Given the description of an element on the screen output the (x, y) to click on. 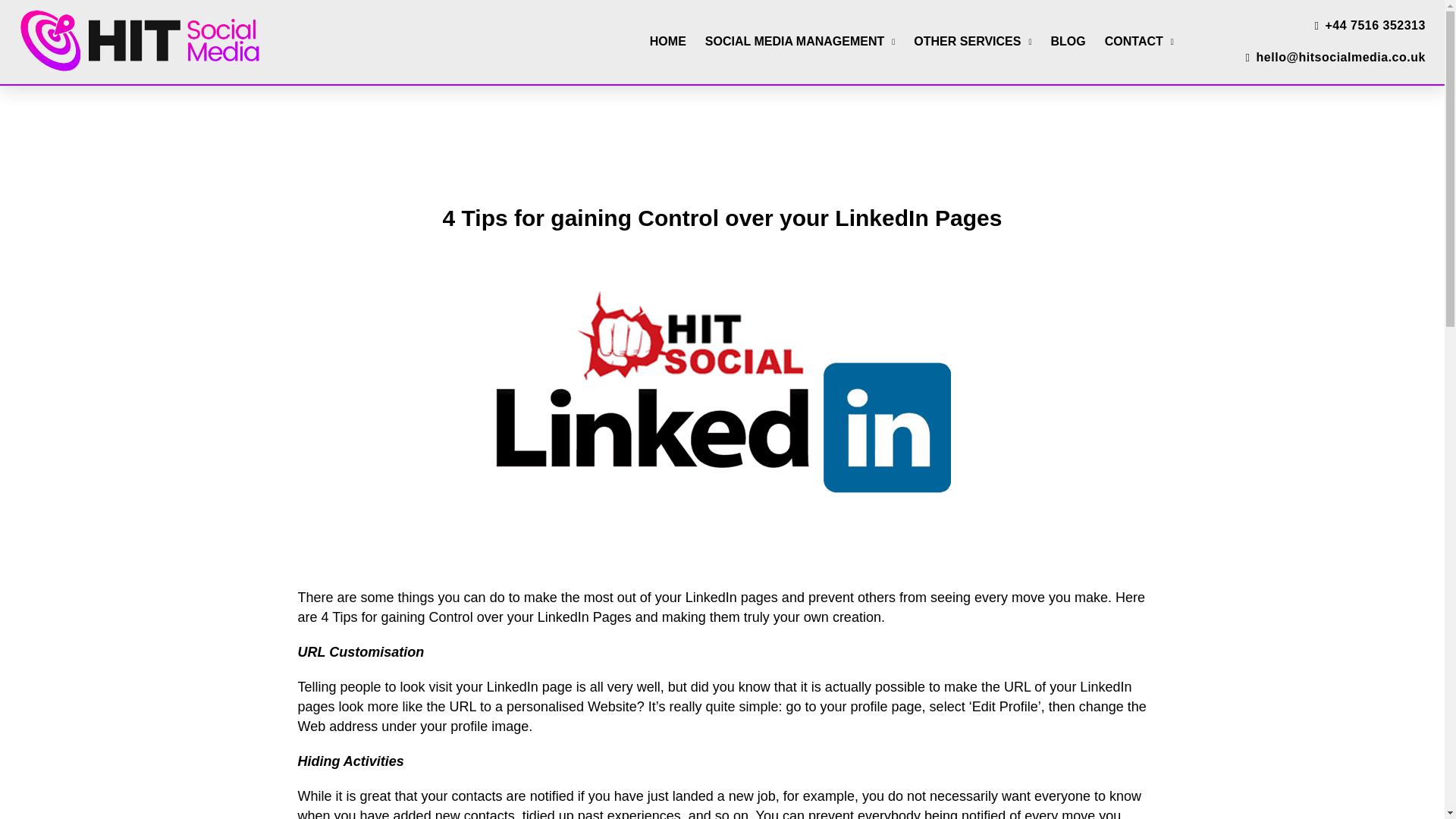
BLOG (1068, 41)
SOCIAL MEDIA MANAGEMENT (799, 41)
OTHER SERVICES (972, 41)
HOME (667, 41)
CONTACT (1139, 41)
